Given the description of an element on the screen output the (x, y) to click on. 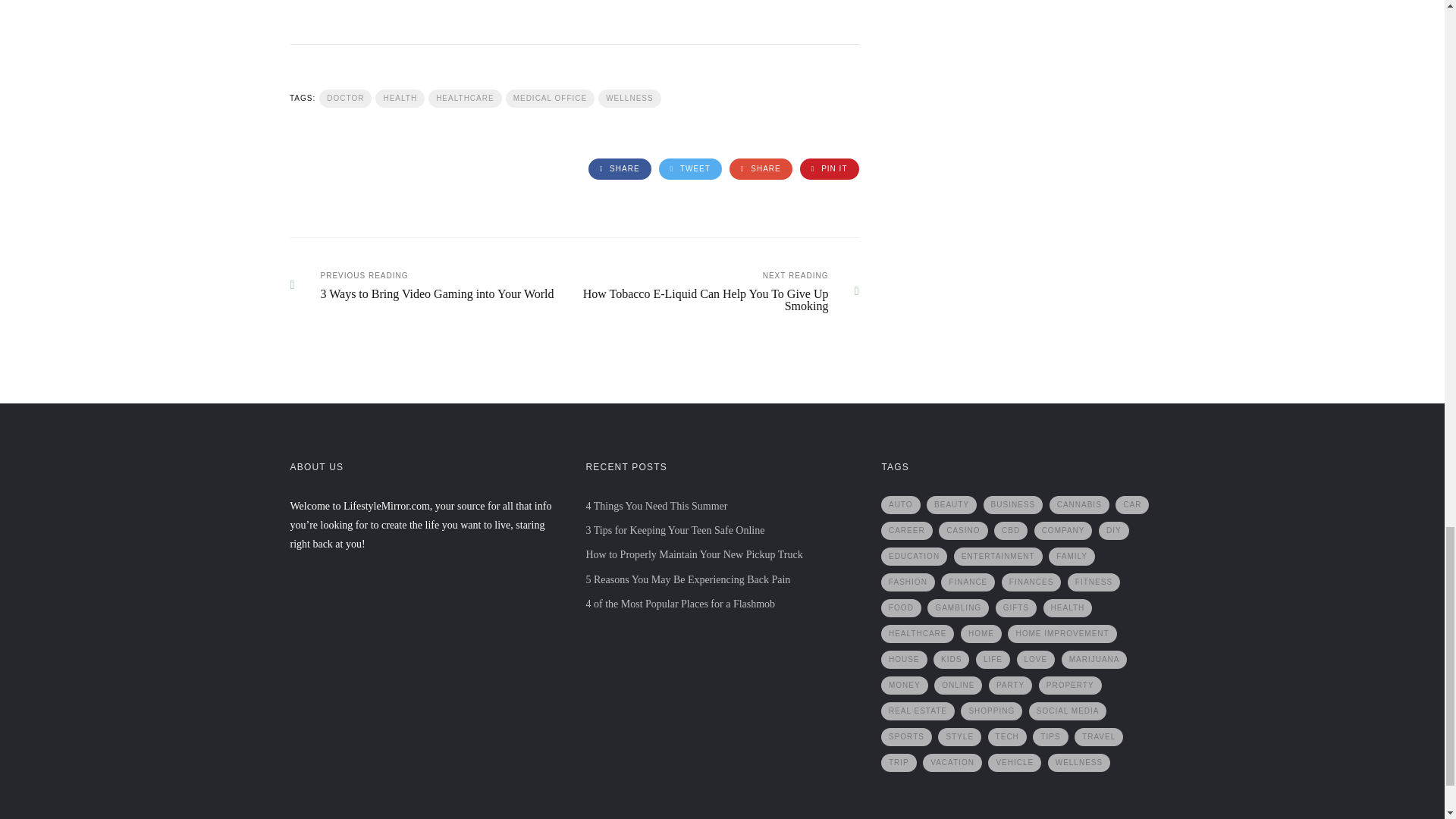
HEALTHCARE (465, 98)
TWEET (690, 168)
MEDICAL OFFICE (550, 98)
SHARE (619, 168)
Google Plus (760, 168)
Pinterest (829, 168)
SHARE (760, 168)
PIN IT (829, 168)
HEALTH (400, 98)
Facebook (619, 168)
Twitter (690, 168)
WELLNESS (629, 98)
DOCTOR (344, 98)
